Given the description of an element on the screen output the (x, y) to click on. 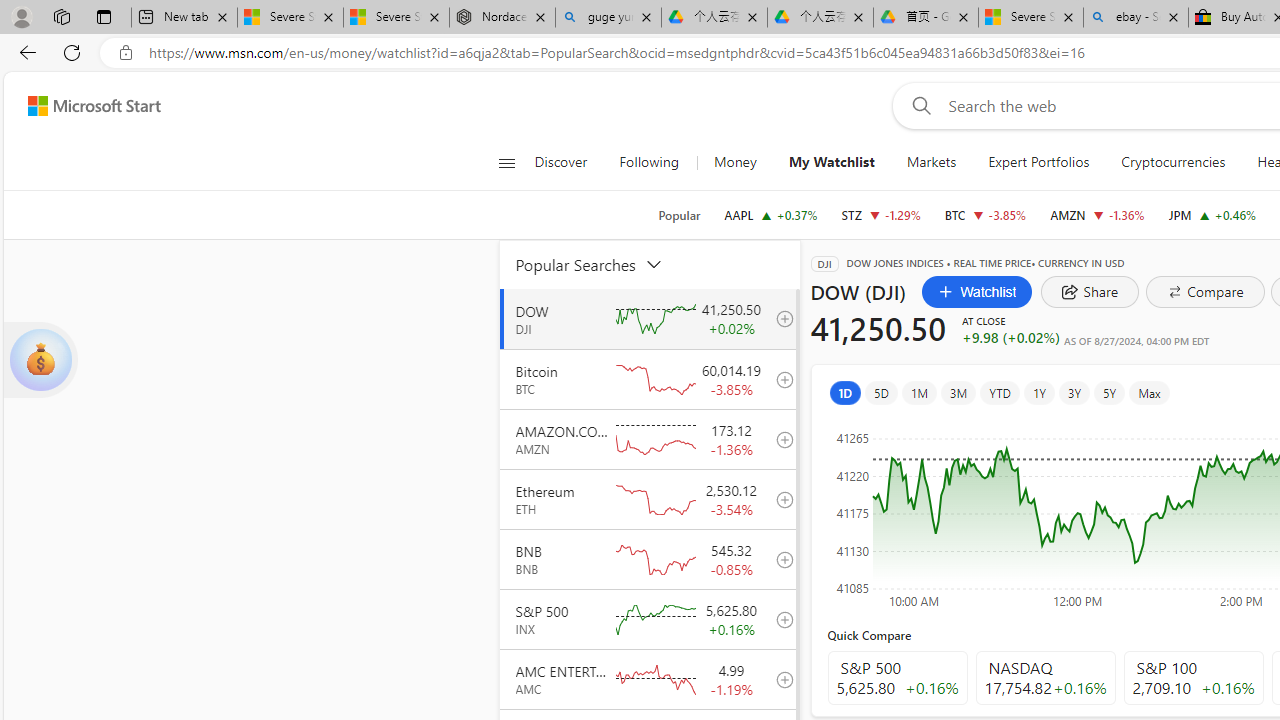
BTC Bitcoin decrease 60,014.19 -2,311.75 -3.85% (985, 214)
share dialog (1090, 291)
JPM JPMORGAN CHASE & CO. increase 220.18 +1.01 +0.46% (1211, 214)
add to your watchlist (779, 678)
1D (845, 392)
Compare (1204, 291)
